Given the description of an element on the screen output the (x, y) to click on. 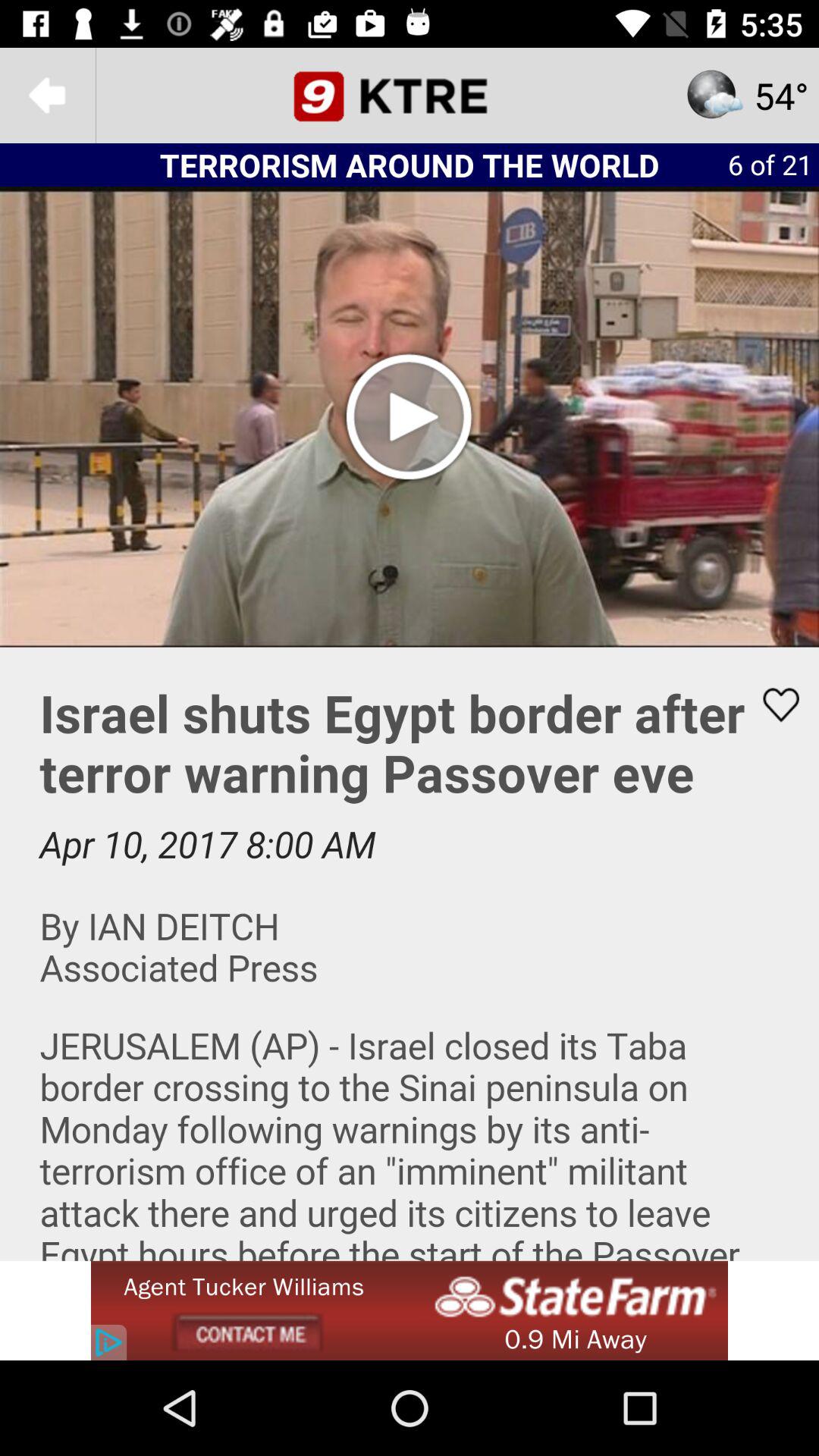
favorite the article (771, 704)
